Given the description of an element on the screen output the (x, y) to click on. 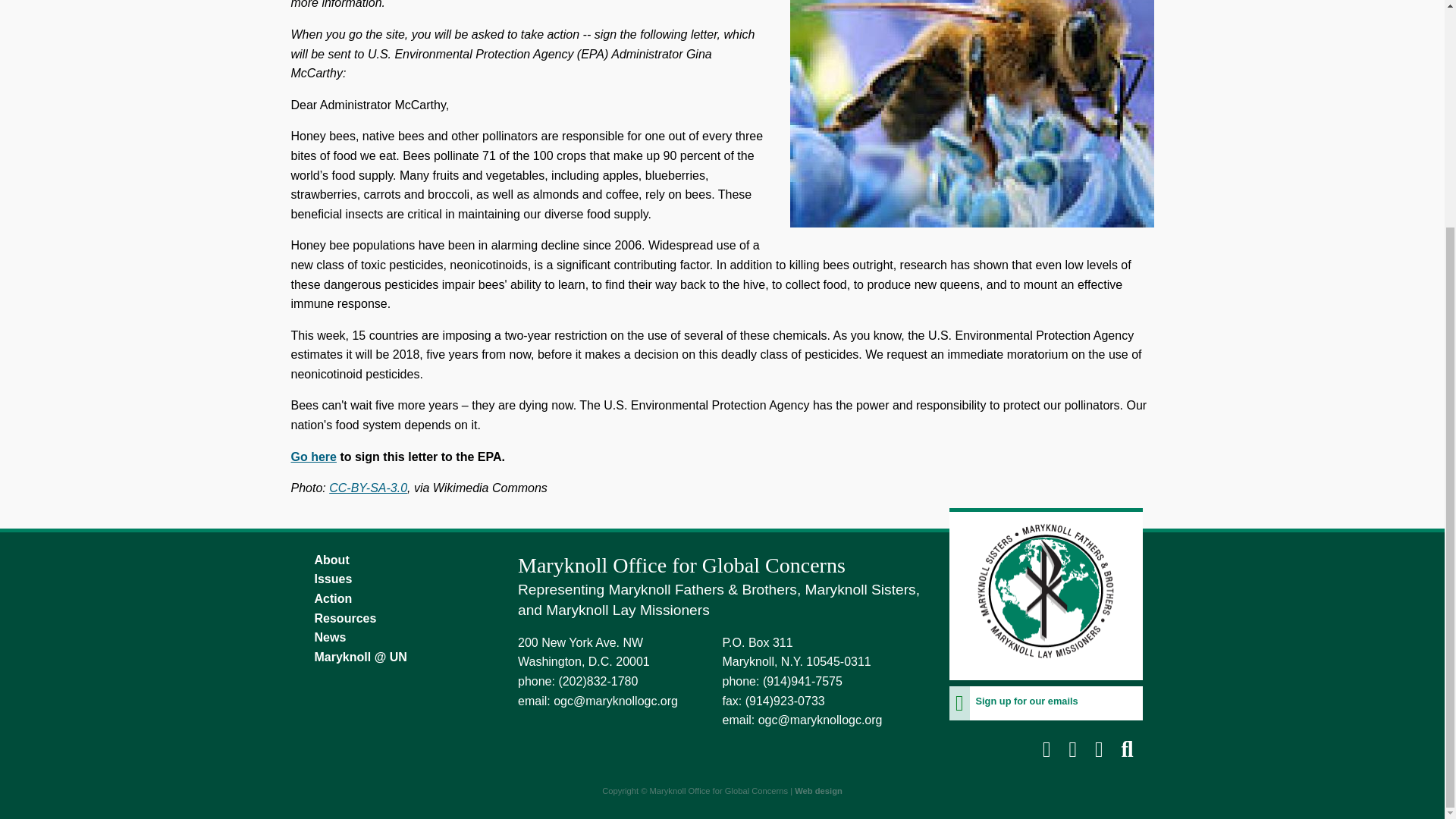
Action (398, 598)
Go here (313, 456)
Issues (398, 578)
Maryknoll Office for Global Concerns homepage (1045, 669)
CC-BY-SA-3.0 (368, 487)
Nonprofit web design (818, 790)
About (398, 560)
